Given the description of an element on the screen output the (x, y) to click on. 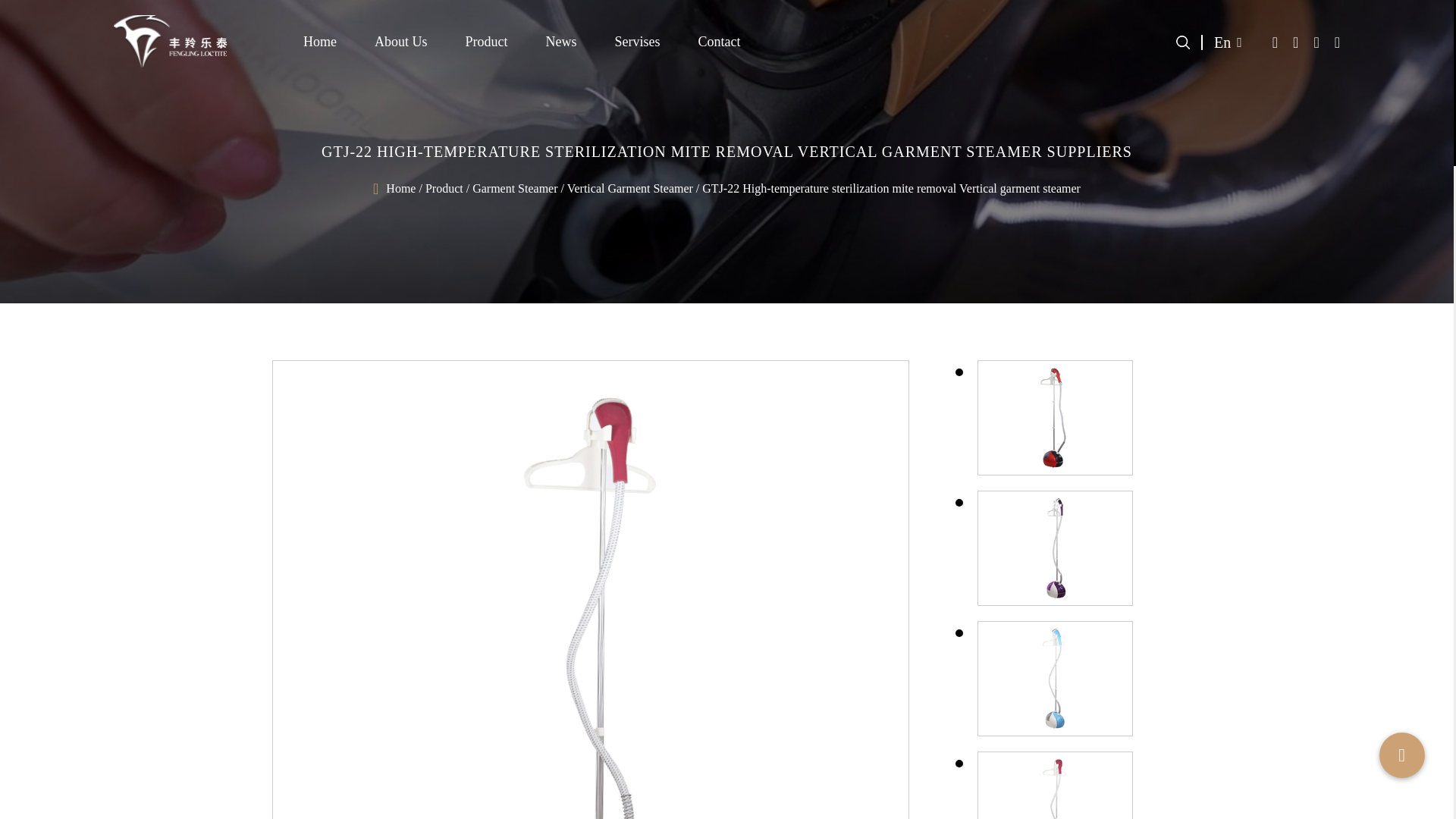
About Us (401, 41)
Home (319, 41)
News (561, 41)
Contact (719, 41)
Product (486, 41)
Servises (637, 41)
